Given the description of an element on the screen output the (x, y) to click on. 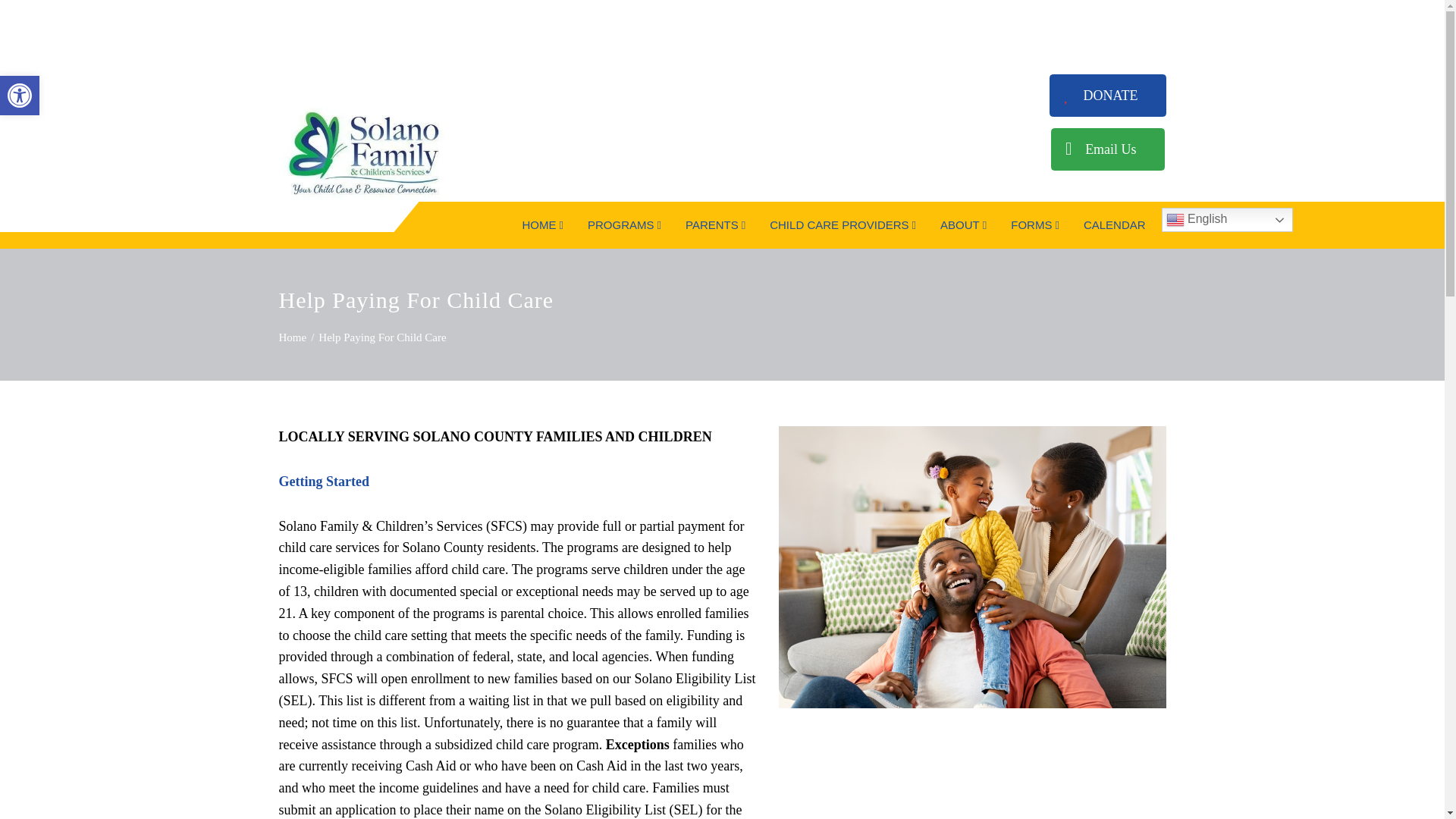
Email Us (1107, 148)
Accessibility Tools (19, 95)
PROGRAMS (622, 225)
DONATE (1107, 95)
CHILD CARE PROVIDERS (841, 225)
HOME (19, 95)
Accessibility Tools (541, 225)
PARENTS (19, 95)
